Given the description of an element on the screen output the (x, y) to click on. 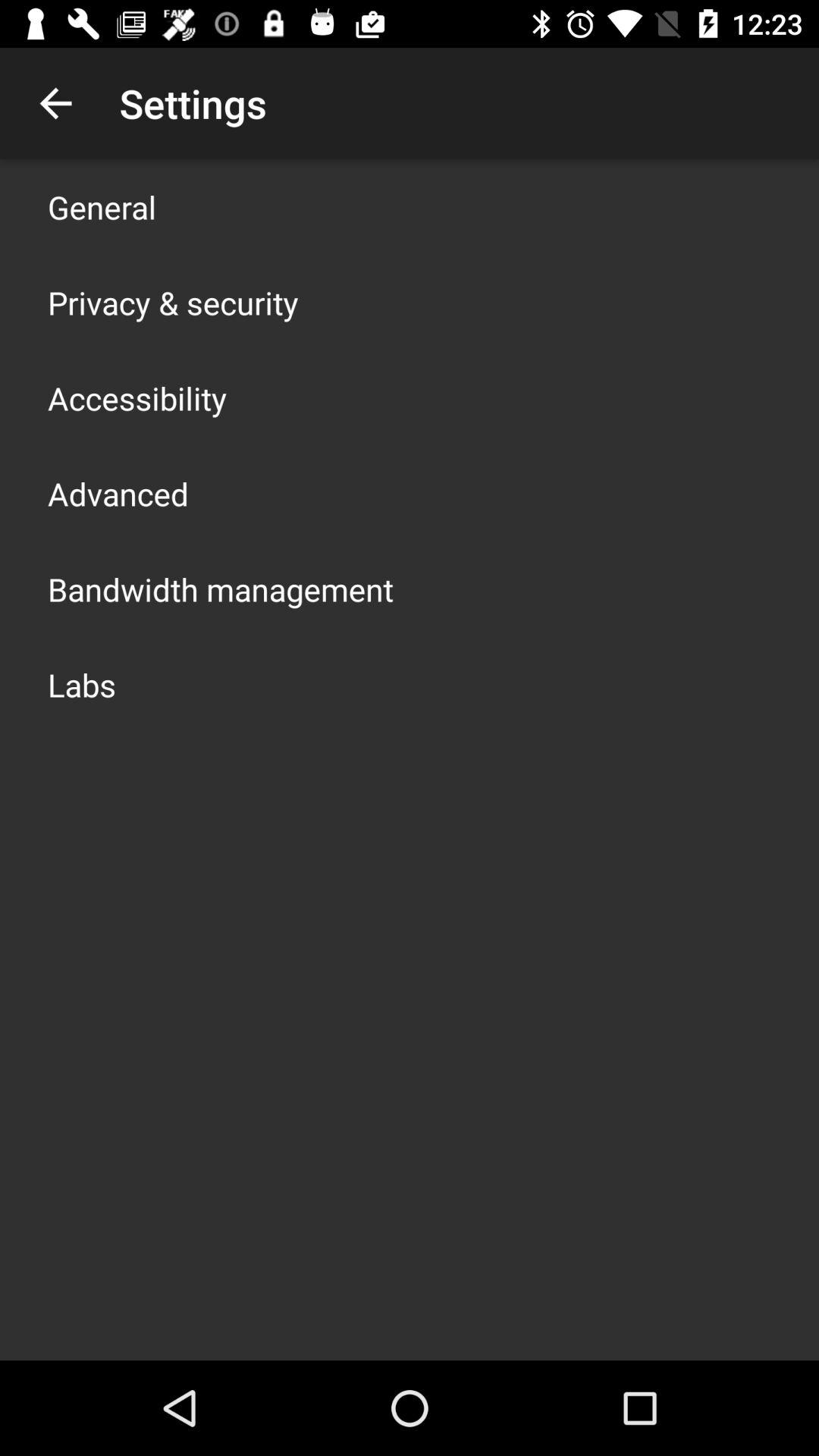
jump until the privacy & security item (172, 302)
